Given the description of an element on the screen output the (x, y) to click on. 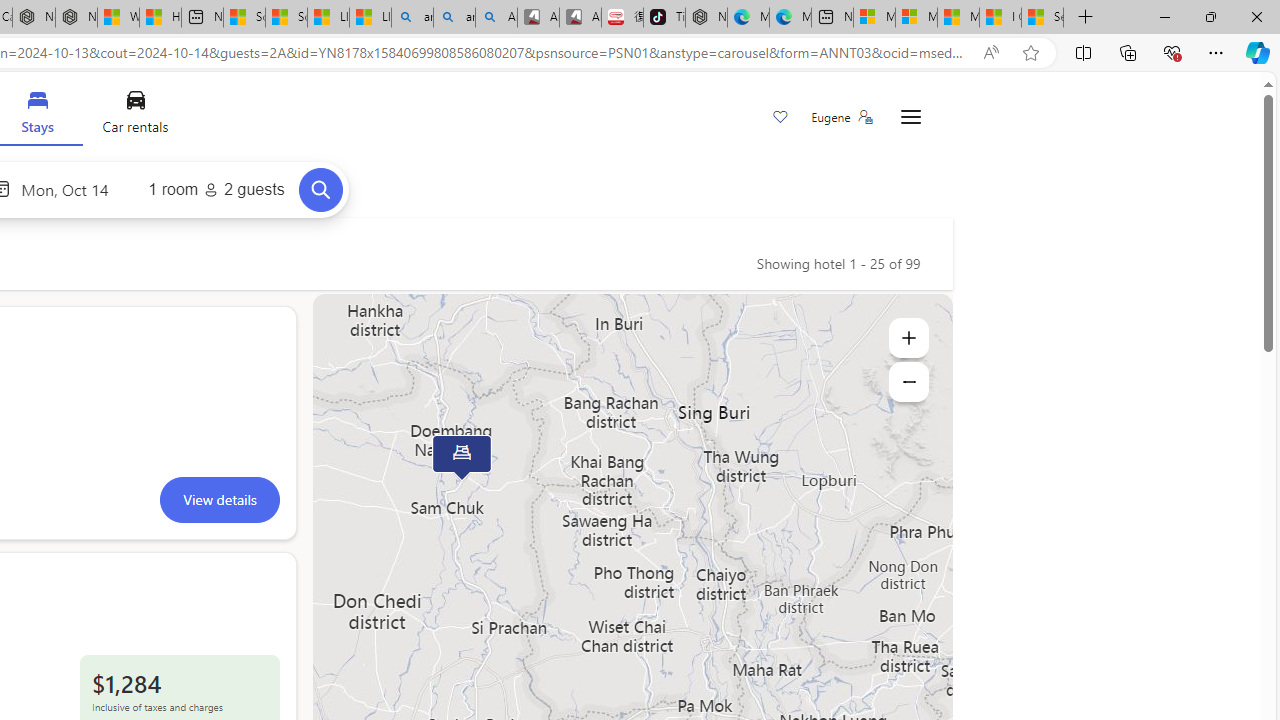
amazon - Search Images (453, 17)
Eugene (841, 117)
Zoom in (908, 337)
I Gained 20 Pounds of Muscle in 30 Days! | Watch (1000, 17)
TikTok (663, 17)
